Given the description of an element on the screen output the (x, y) to click on. 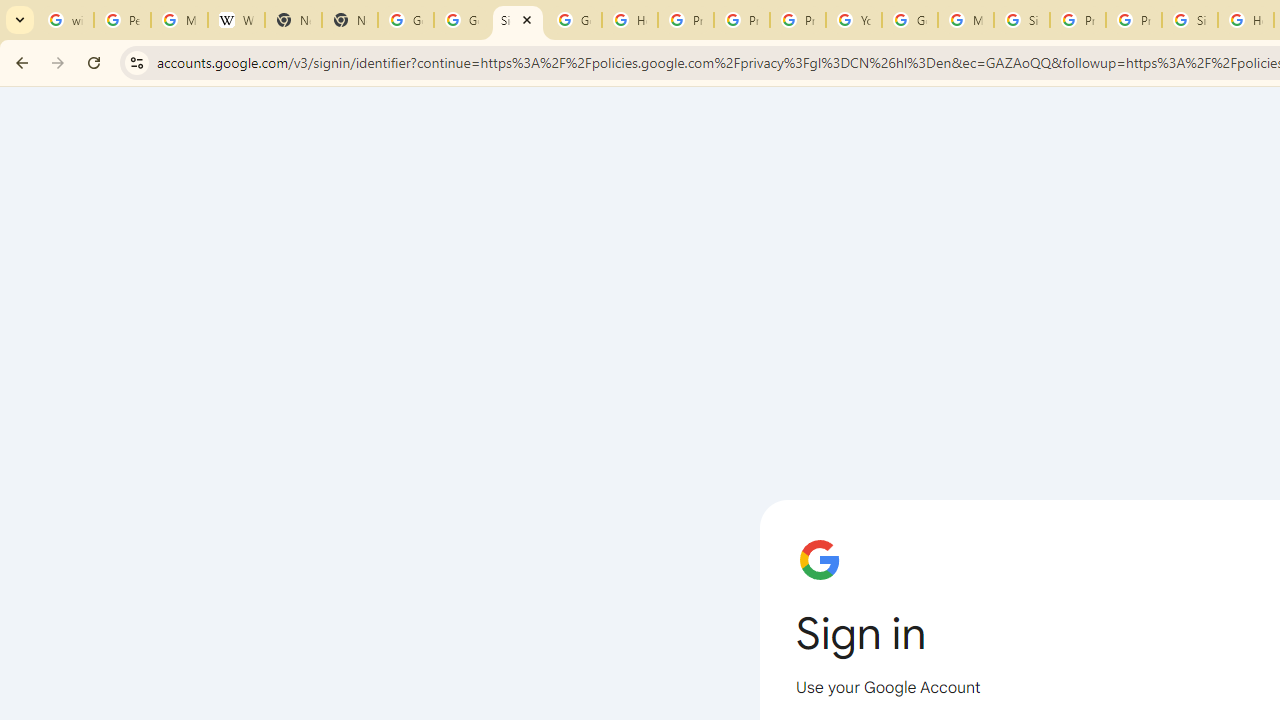
Google Drive: Sign-in (461, 20)
Sign in - Google Accounts (1021, 20)
Sign in - Google Accounts (1190, 20)
Personalization & Google Search results - Google Search Help (122, 20)
Google Account Help (909, 20)
